Given the description of an element on the screen output the (x, y) to click on. 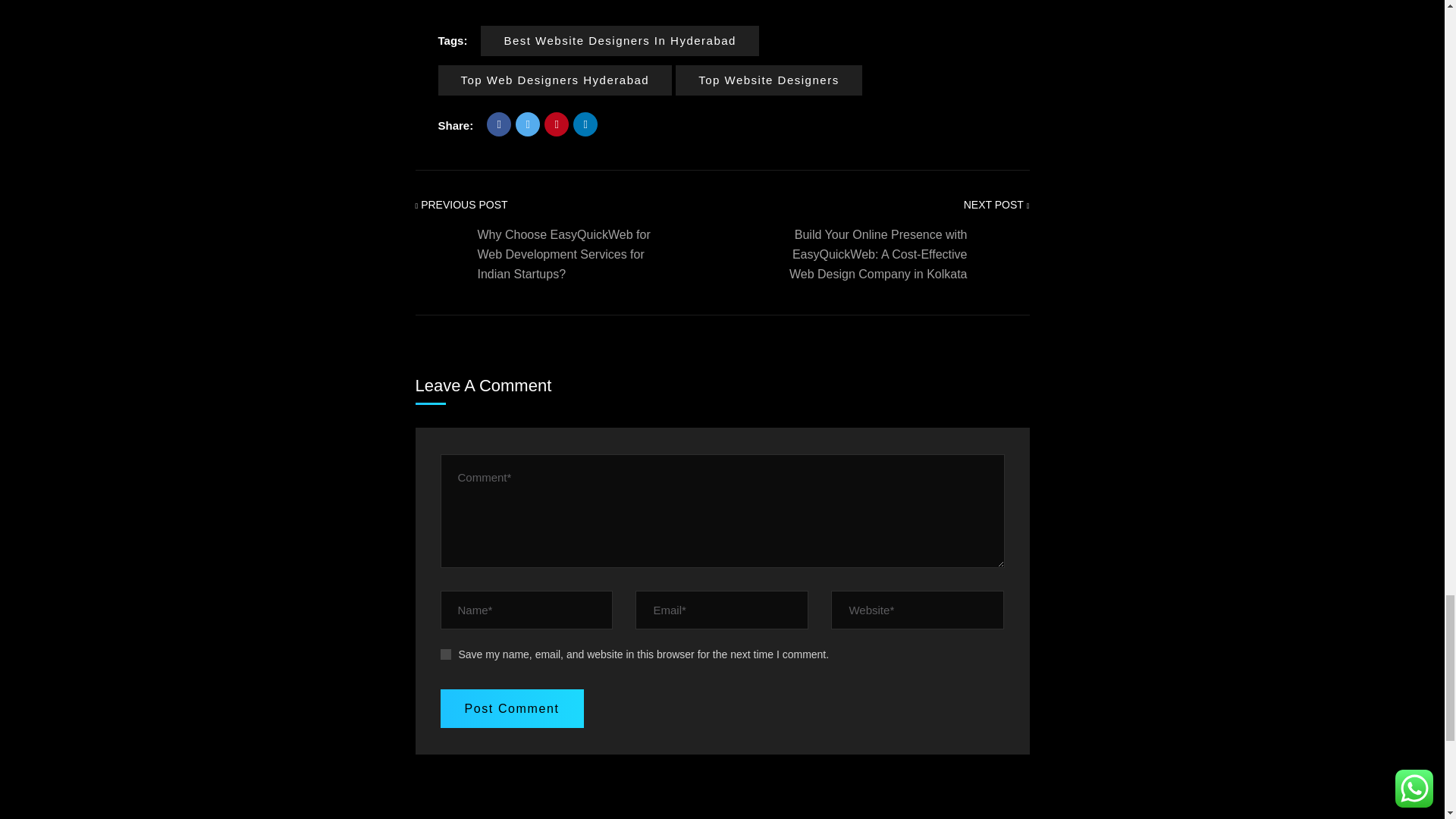
Top Website Designers (768, 80)
Twitter (527, 124)
Pinterest (556, 124)
LinkedIn (584, 124)
NEXT POST (996, 204)
Post Comment (511, 708)
Post Comment (511, 708)
PREVIOUS POST (461, 204)
Facebook (498, 124)
Top Web Designers Hyderabad (555, 80)
Best Website Designers In Hyderabad (619, 40)
